Given the description of an element on the screen output the (x, y) to click on. 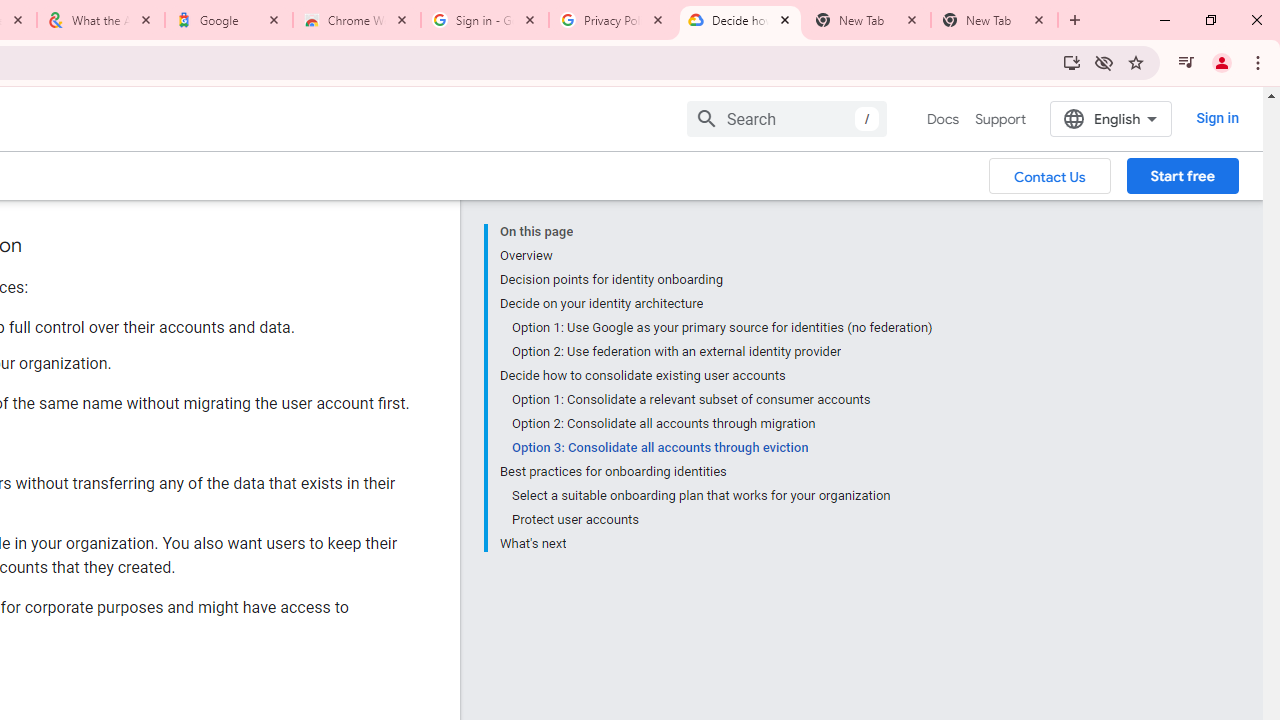
Option 3: Consolidate all accounts through eviction (721, 448)
Protect user accounts (721, 520)
Google (229, 20)
Support (1000, 119)
